Given the description of an element on the screen output the (x, y) to click on. 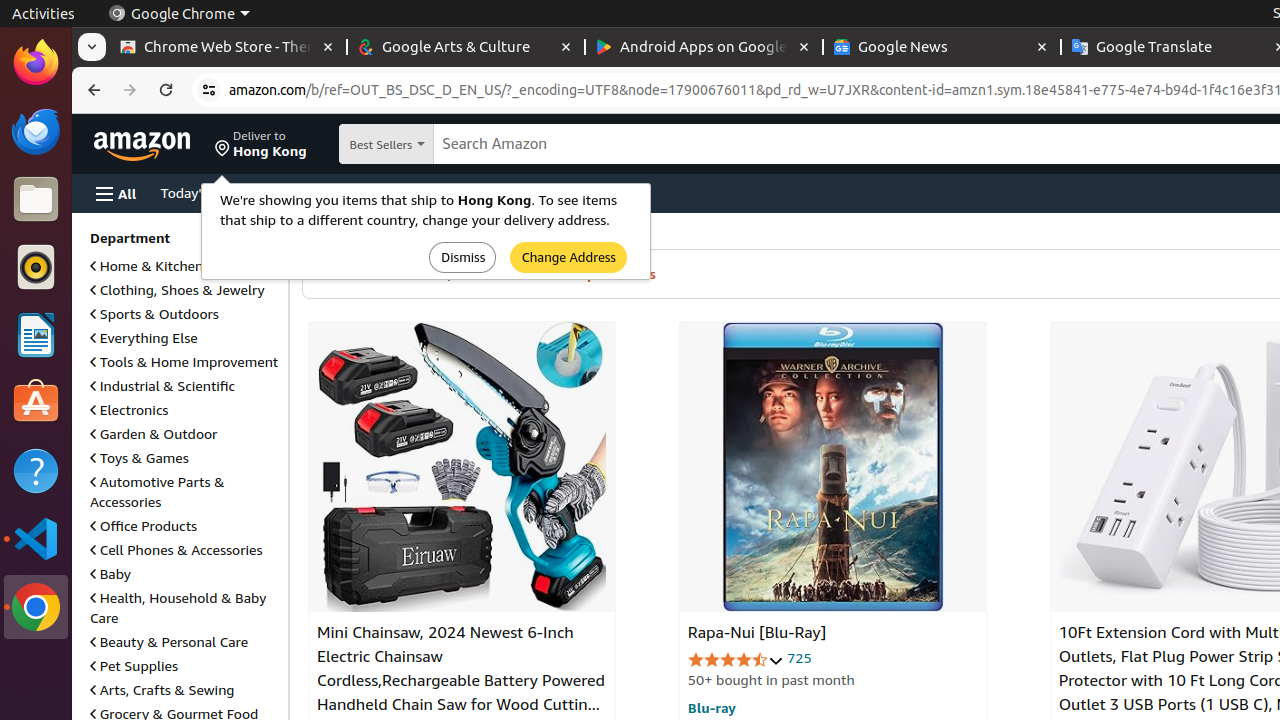
Automotive Parts & Accessories Element type: link (157, 491)
Google Arts & Culture - Memory usage - 57.6 MB Element type: page-tab (466, 47)
Arts, Crafts & Sewing Element type: link (162, 689)
Sports & Outdoors Element type: link (154, 313)
Beauty & Personal Care Element type: link (169, 641)
